Given the description of an element on the screen output the (x, y) to click on. 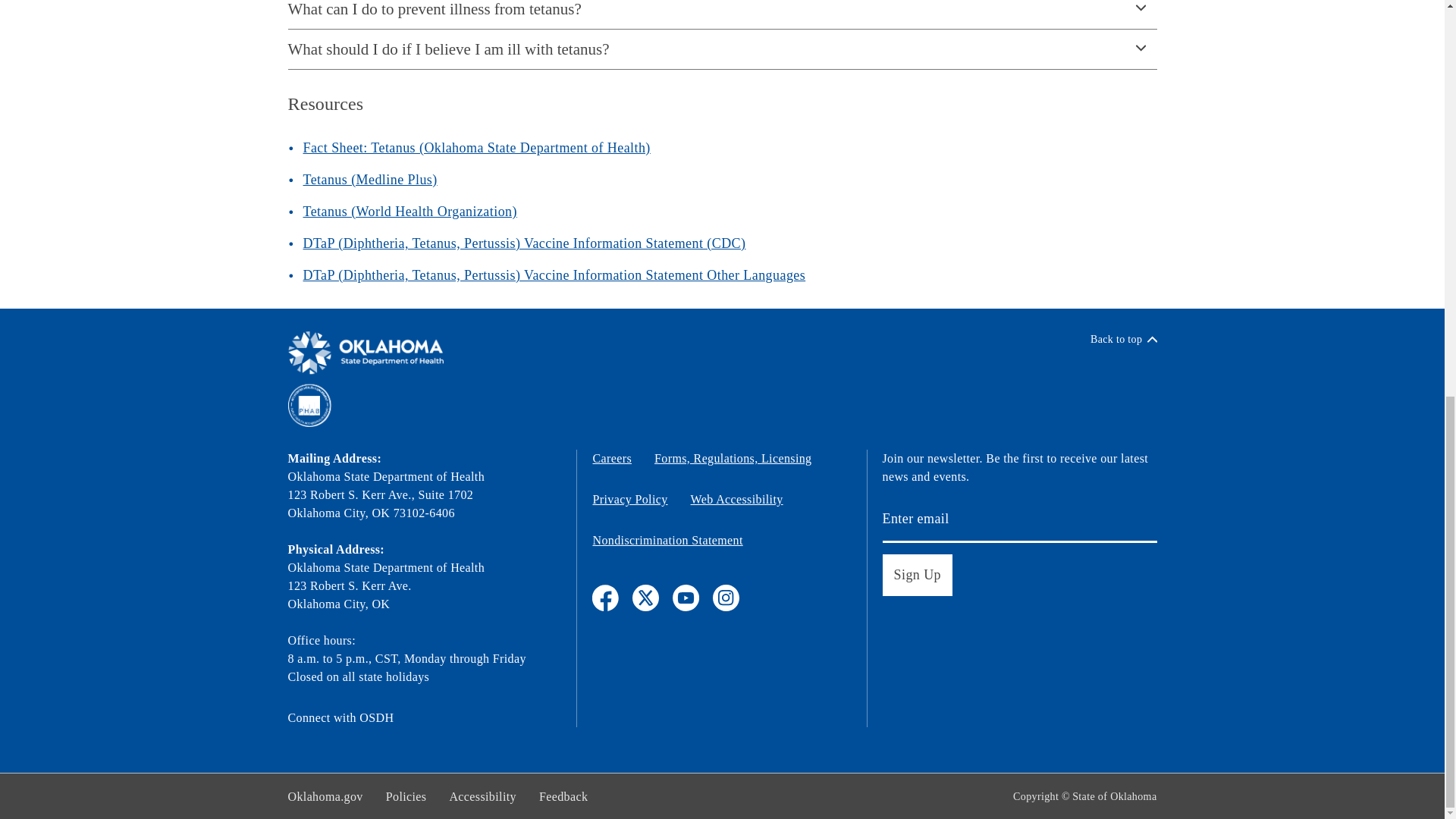
HEALTH Social Share Facebook (605, 597)
HEALTH Social Share Twitter (645, 597)
HEALTH Social Share Youtube (685, 597)
An OSDH fact sheet for tetanus (476, 147)
back-to-top (1123, 339)
HEALTH Social Share Instagram (726, 597)
